Given the description of an element on the screen output the (x, y) to click on. 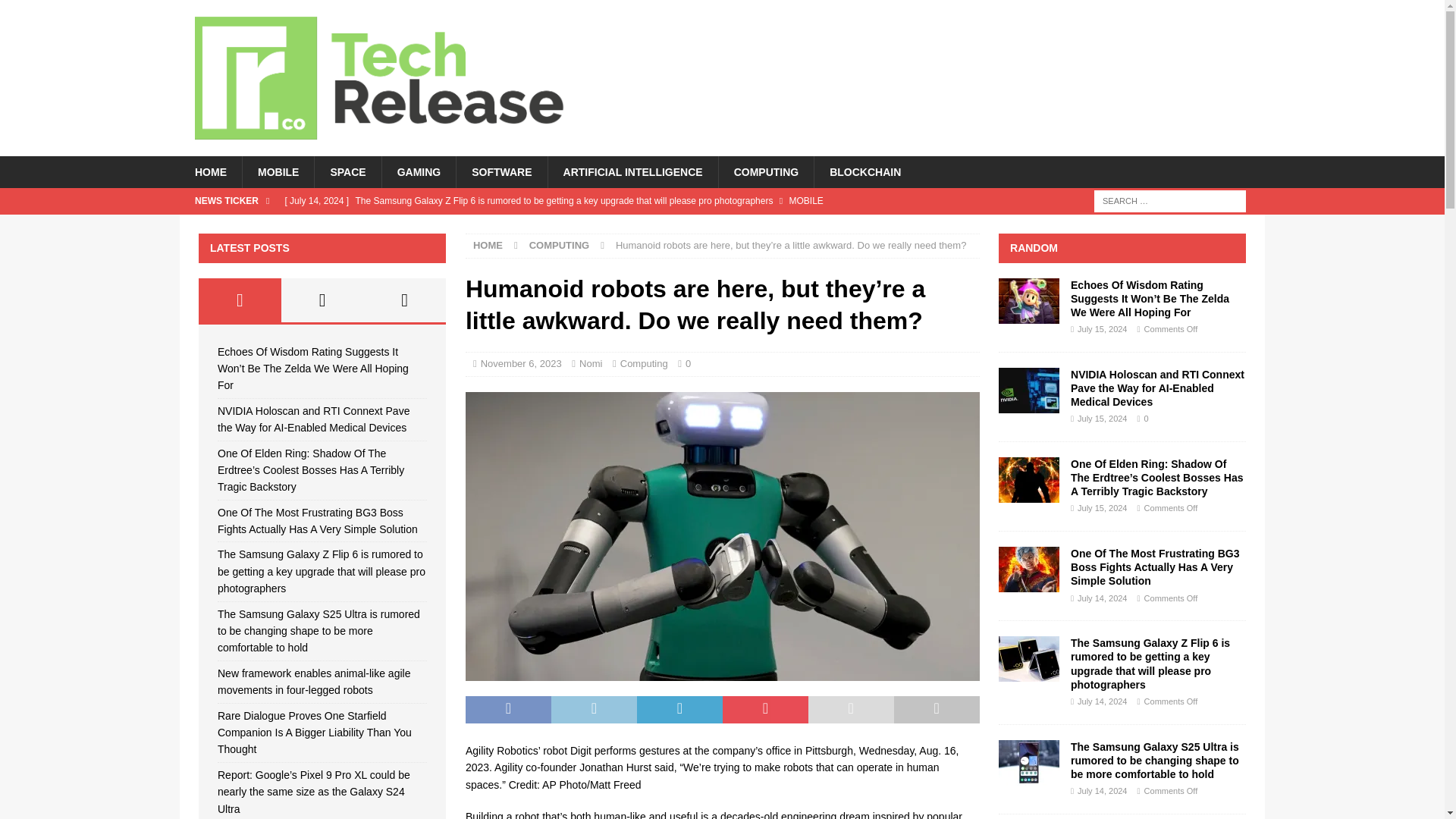
BLOCKCHAIN (864, 172)
Computing (644, 363)
SOFTWARE (501, 172)
HOME (210, 172)
Search (56, 11)
GAMING (419, 172)
SPACE (347, 172)
Nomi (590, 363)
November 6, 2023 (521, 363)
COMPUTING (559, 244)
COMPUTING (765, 172)
ARTIFICIAL INTELLIGENCE (632, 172)
